Given the description of an element on the screen output the (x, y) to click on. 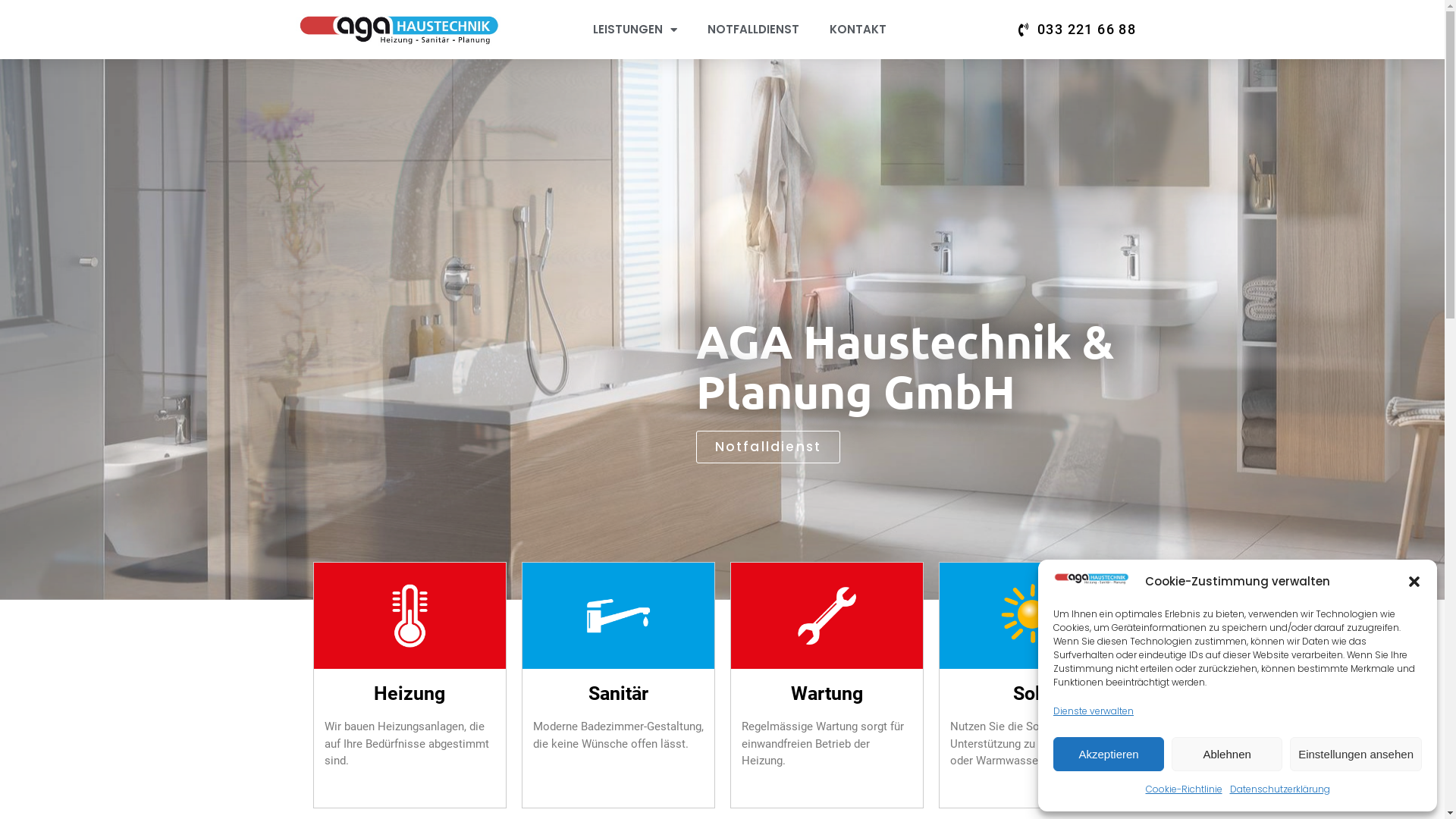
Einstellungen ansehen Element type: text (1355, 754)
Cookie-Richtlinie Element type: text (1183, 789)
033 221 66 88 Element type: text (1077, 29)
Ablehnen Element type: text (1226, 754)
Notfalldienst Element type: text (768, 446)
Zum Inhalt springen Element type: text (11, 31)
Heizung Element type: text (409, 693)
Akzeptieren Element type: text (1108, 754)
NOTFALLDIENST Element type: text (753, 29)
LEISTUNGEN Element type: text (634, 29)
Solar Element type: text (1035, 693)
KONTAKT Element type: text (857, 29)
Dienste verwalten Element type: text (1093, 710)
